Given the description of an element on the screen output the (x, y) to click on. 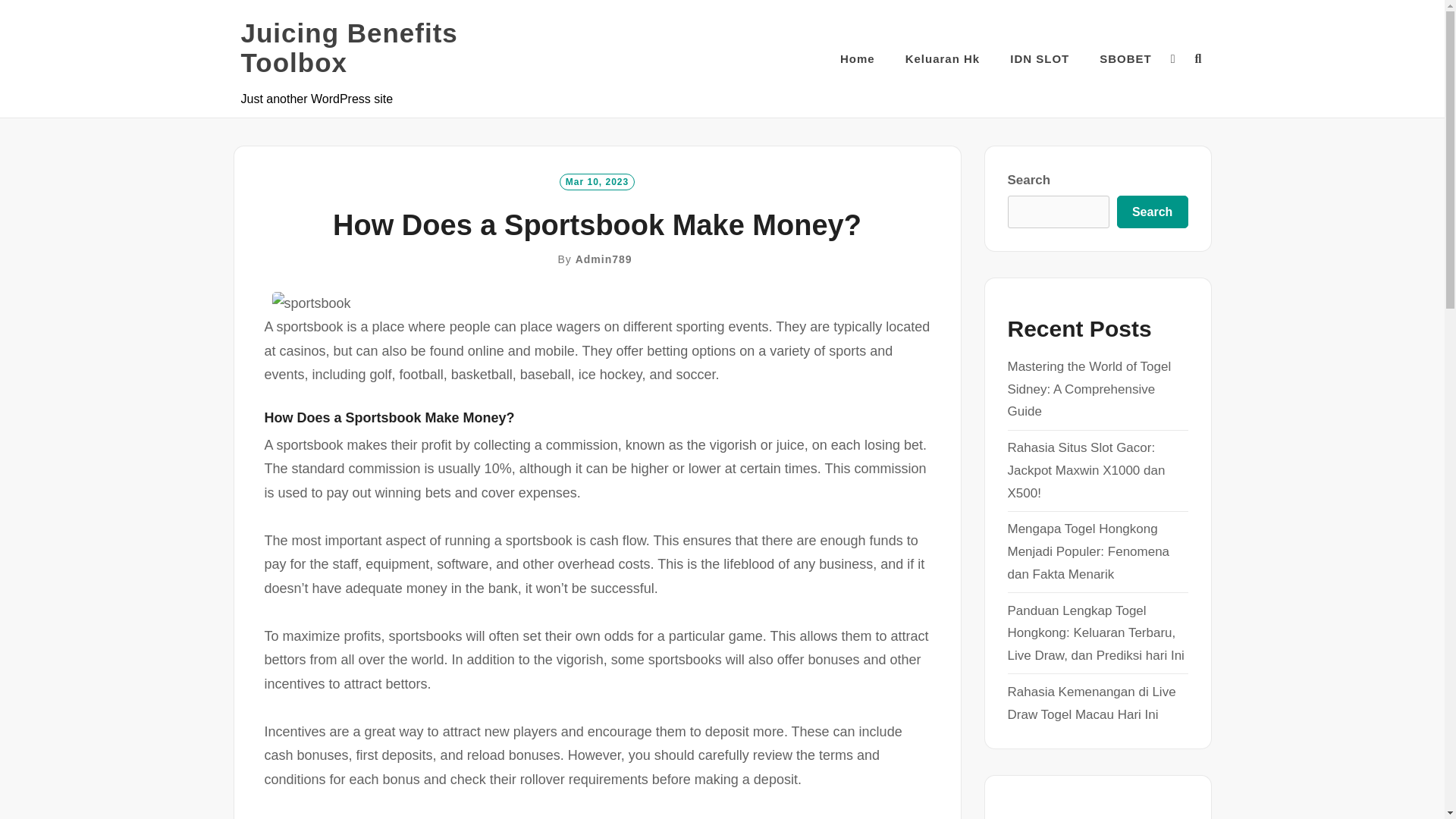
Juicing Benefits Toolbox (392, 47)
SBOBET (1125, 57)
Keluaran Hk (942, 57)
Home (857, 57)
Mastering the World of Togel Sidney: A Comprehensive Guide (1088, 389)
IDN SLOT (1039, 57)
Mar 10, 2023 (596, 181)
Search (1152, 212)
Admin789 (603, 259)
Rahasia Kemenangan di Live Draw Togel Macau Hari Ini (1090, 702)
Rahasia Situs Slot Gacor: Jackpot Maxwin X1000 dan X500! (1085, 470)
